Given the description of an element on the screen output the (x, y) to click on. 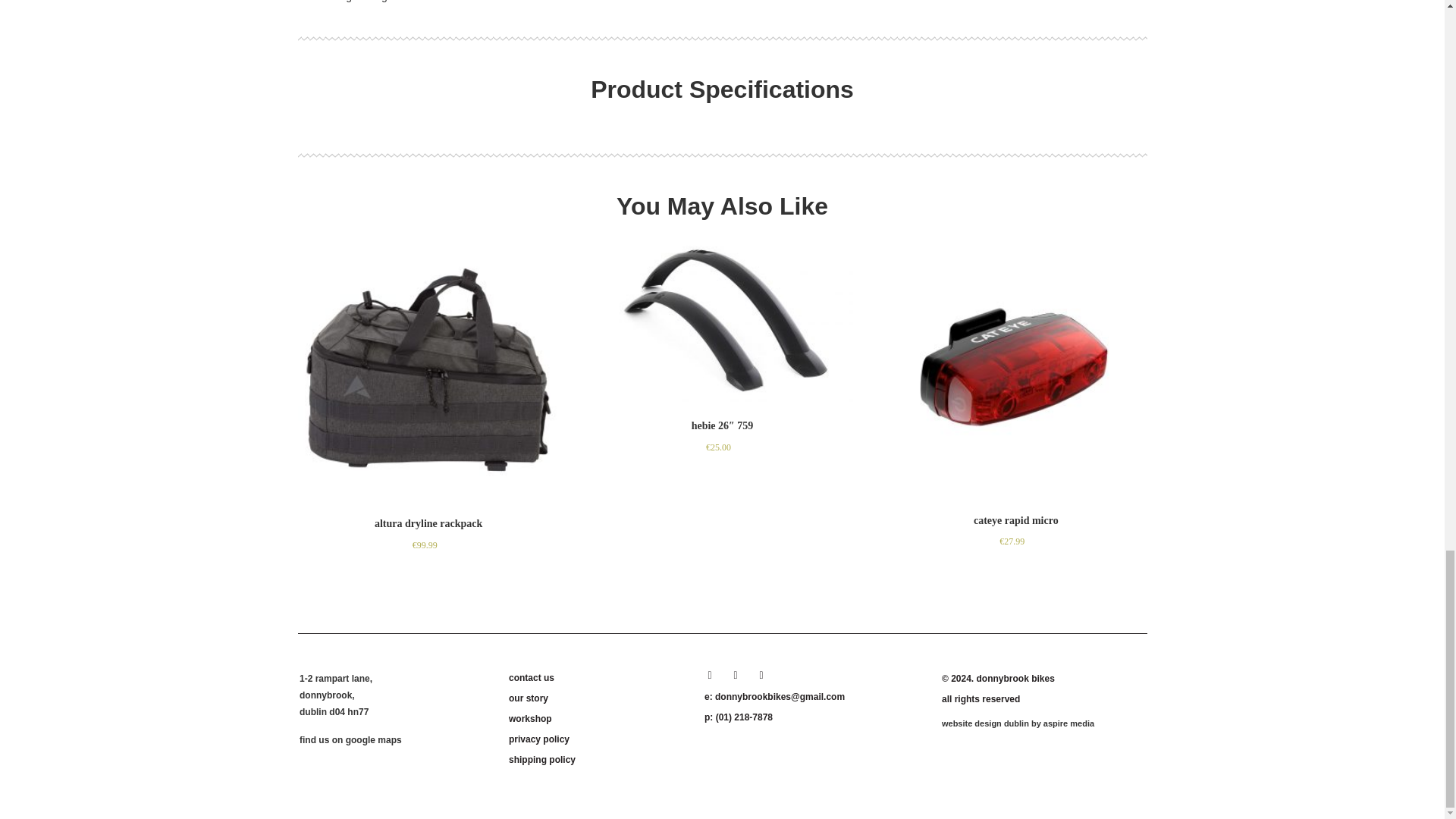
contact us (596, 677)
website design dublin (985, 723)
privacy policy (596, 739)
workshop (596, 718)
find us on google maps (350, 739)
shipping policy (596, 759)
our story (596, 698)
aspire media (1068, 723)
